Given the description of an element on the screen output the (x, y) to click on. 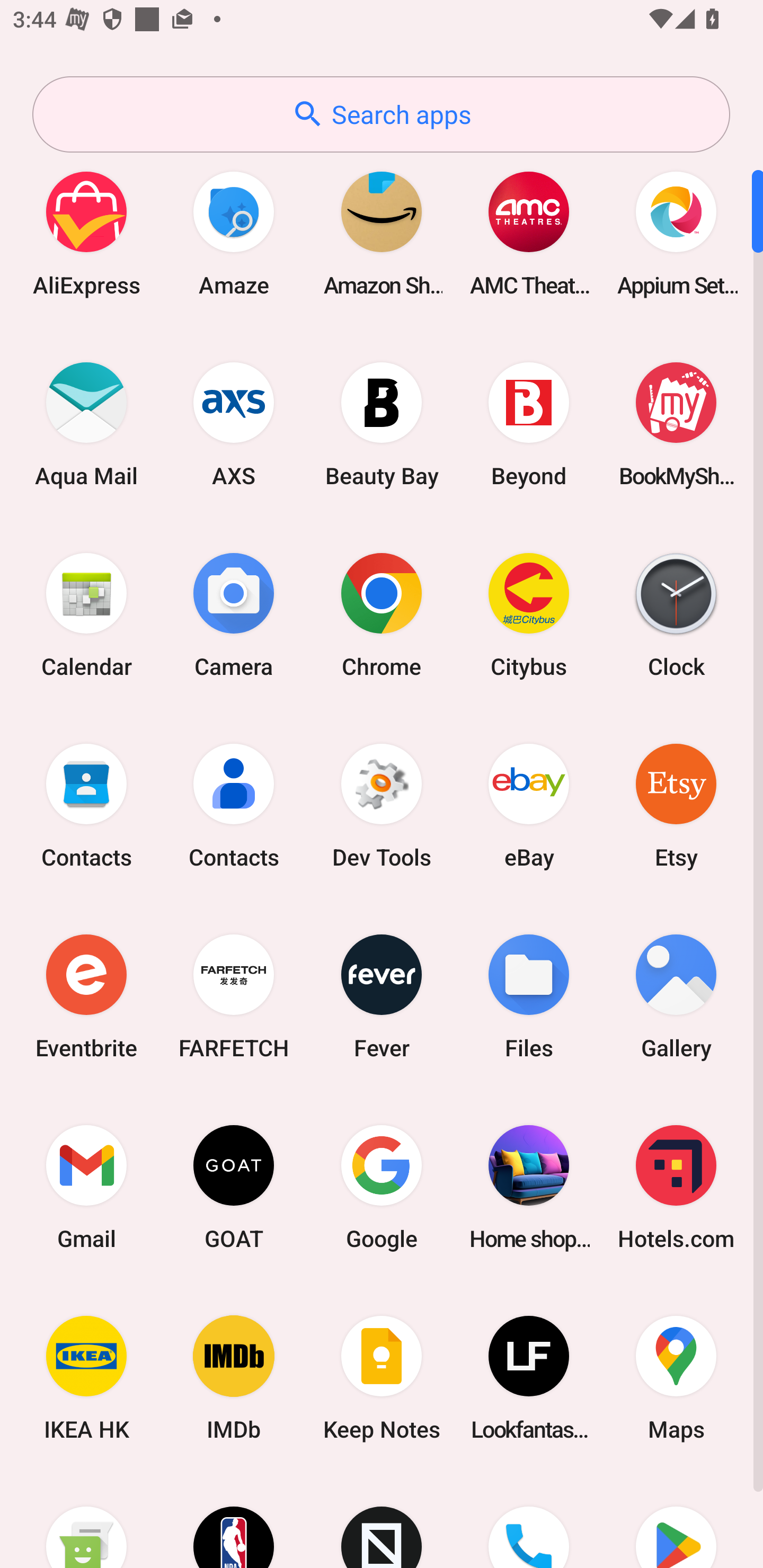
  Search apps (381, 114)
AliExpress (86, 233)
Amaze (233, 233)
Amazon Shopping (381, 233)
AMC Theatres (528, 233)
Appium Settings (676, 233)
Aqua Mail (86, 424)
AXS (233, 424)
Beauty Bay (381, 424)
Beyond (528, 424)
BookMyShow (676, 424)
Calendar (86, 614)
Camera (233, 614)
Chrome (381, 614)
Citybus (528, 614)
Clock (676, 614)
Contacts (86, 805)
Contacts (233, 805)
Dev Tools (381, 805)
eBay (528, 805)
Etsy (676, 805)
Eventbrite (86, 996)
FARFETCH (233, 996)
Fever (381, 996)
Files (528, 996)
Gallery (676, 996)
Gmail (86, 1186)
GOAT (233, 1186)
Google (381, 1186)
Home shopping (528, 1186)
Hotels.com (676, 1186)
IKEA HK (86, 1377)
IMDb (233, 1377)
Keep Notes (381, 1377)
Lookfantastic (528, 1377)
Maps (676, 1377)
